Given the description of an element on the screen output the (x, y) to click on. 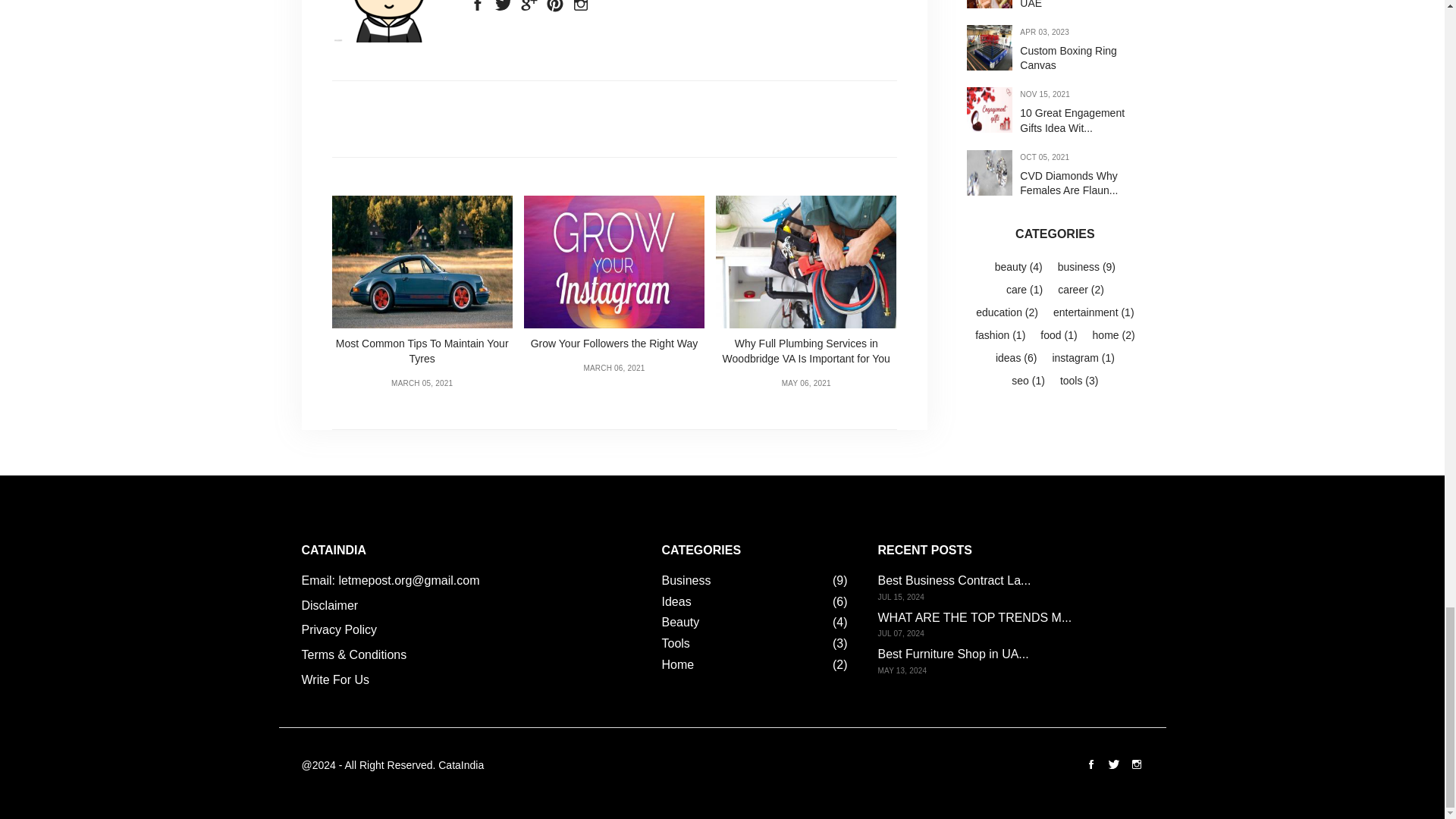
Grow Your Followers the Right Way (614, 273)
Most Common Tips To Maintain Your Tyres (421, 280)
Grow Your Followers the Right Way (614, 262)
Click to read Grow Your Followers the Right Way (614, 273)
Most Common Tips To Maintain Your Tyres (421, 262)
Click to read Most Common Tips To Maintain Your Tyres (421, 280)
Henry Charle author (388, 21)
